Given the description of an element on the screen output the (x, y) to click on. 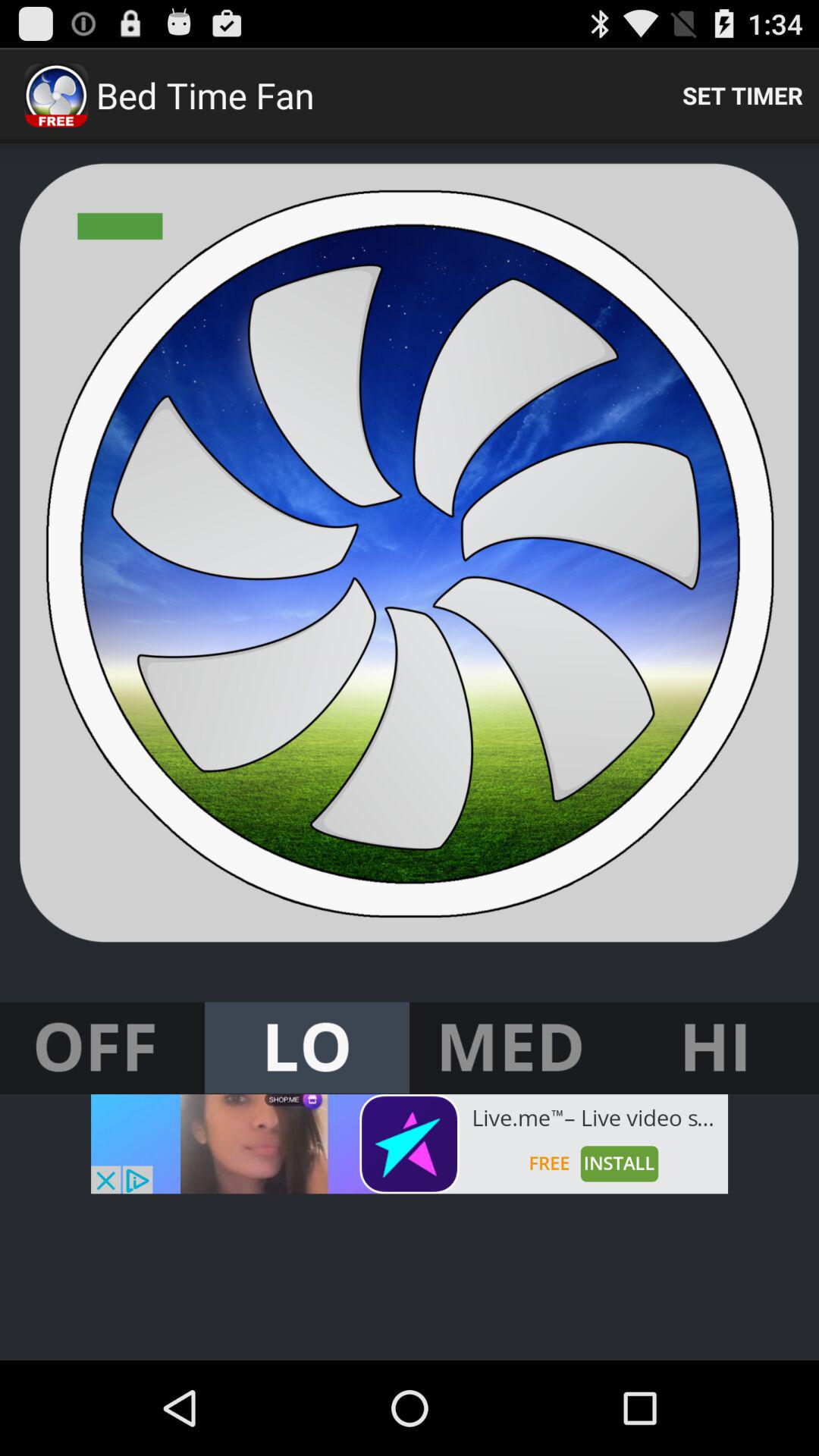
set noise to medium (511, 1048)
